Given the description of an element on the screen output the (x, y) to click on. 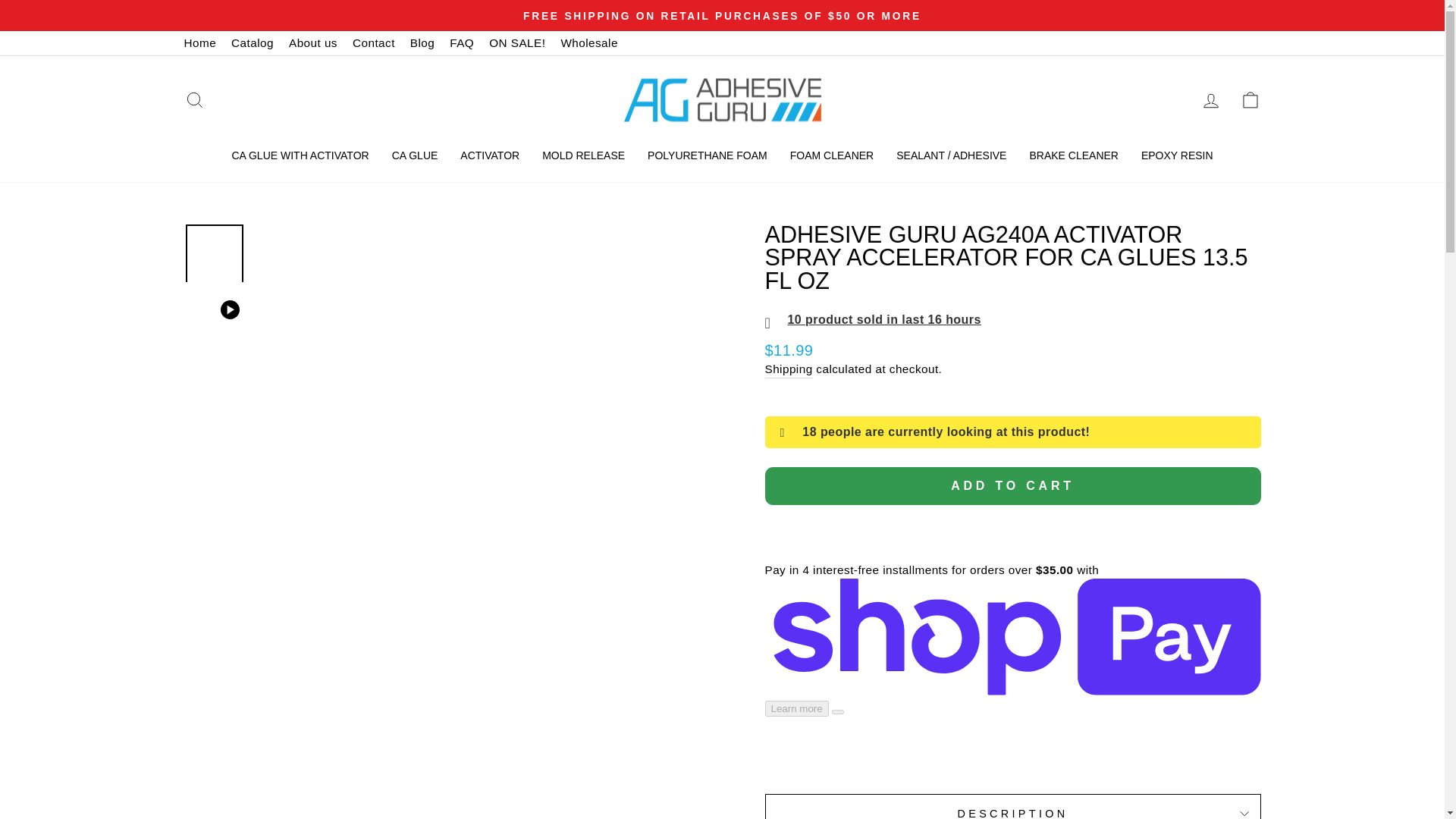
Home (200, 42)
CA GLUE WITH ACTIVATOR (299, 155)
Contact (374, 42)
LOG IN (1210, 100)
CA GLUE (414, 155)
ON SALE! (517, 42)
FAQ (461, 42)
About us (313, 42)
Wholesale (588, 42)
SEARCH (194, 100)
